Given the description of an element on the screen output the (x, y) to click on. 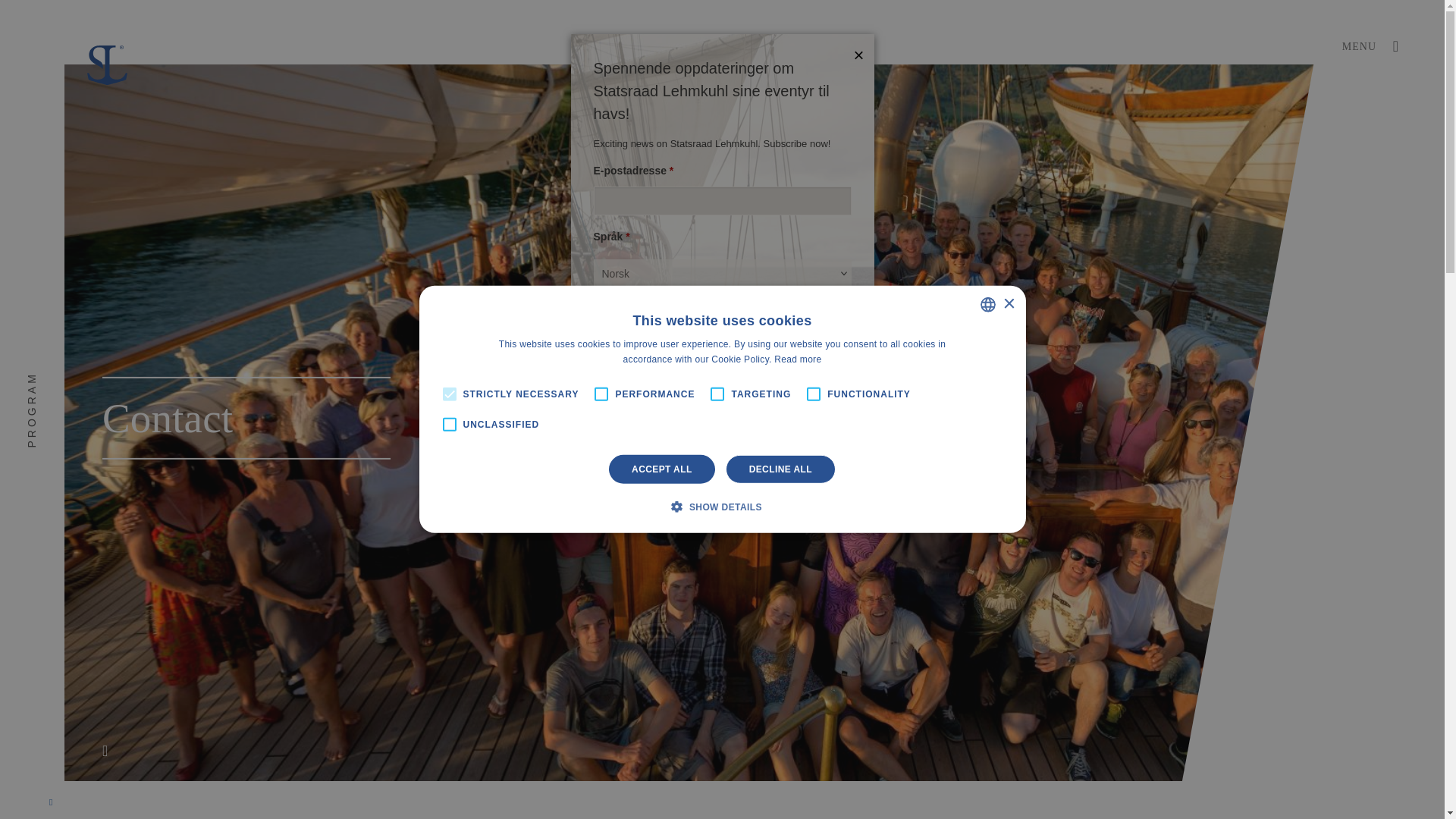
Registrer (721, 329)
Read more (797, 358)
Registrer (721, 329)
MENU (1370, 47)
